Given the description of an element on the screen output the (x, y) to click on. 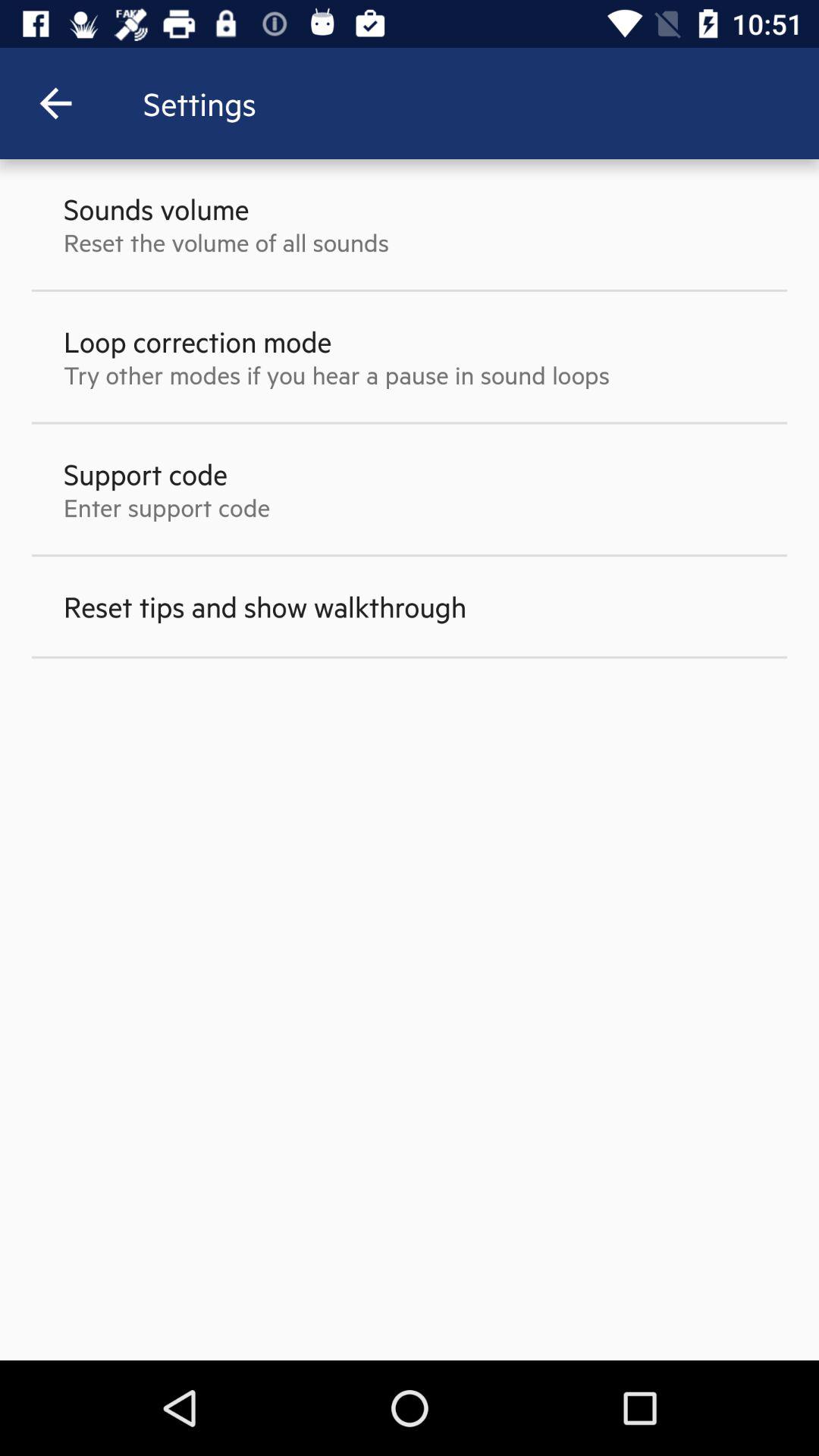
open icon above support code icon (336, 374)
